Given the description of an element on the screen output the (x, y) to click on. 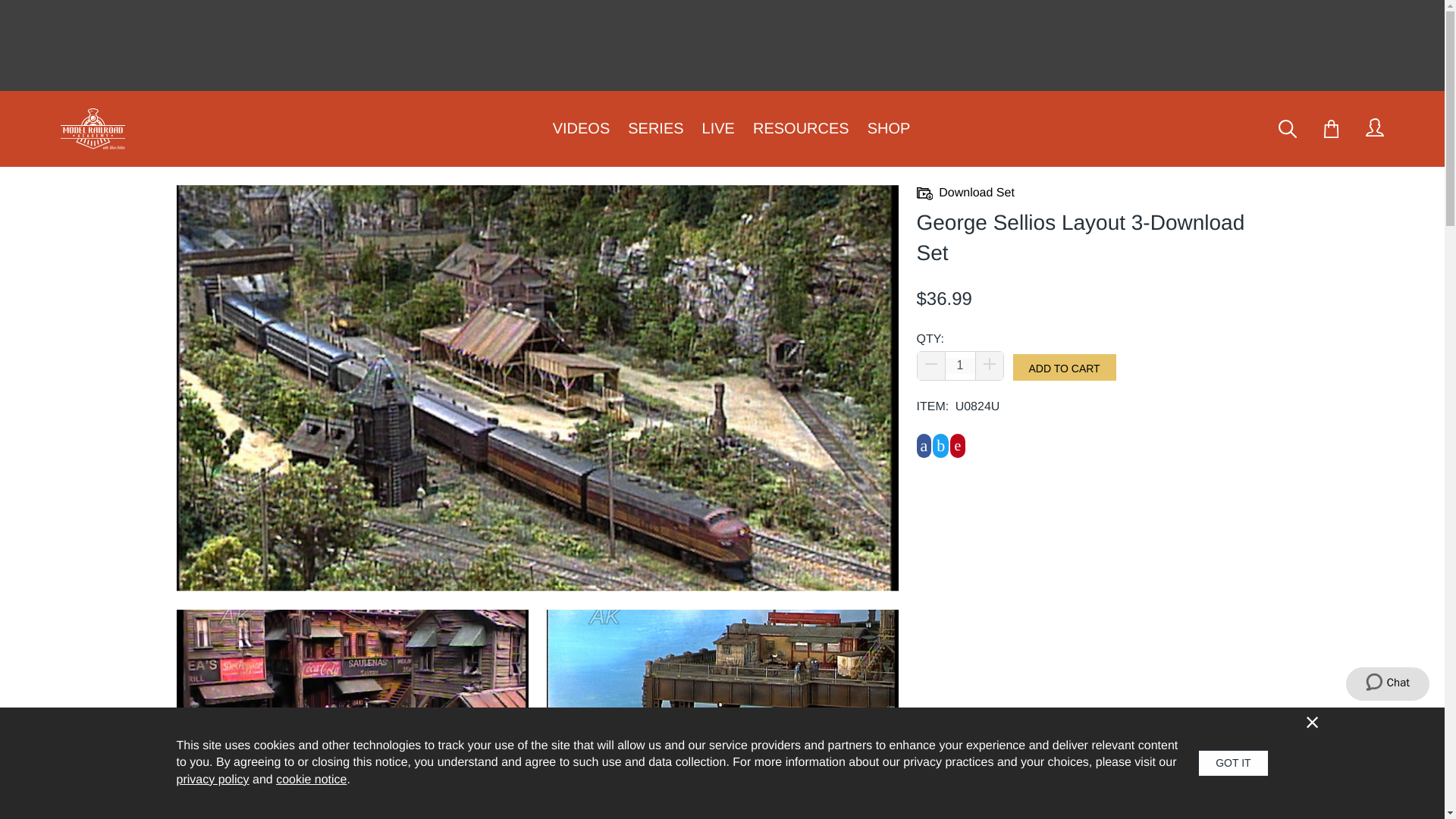
Home (93, 128)
1 (959, 365)
ADD TO CART (1064, 366)
Model Railroad Academy Clickable Logo (97, 128)
RESOURCES (800, 128)
Quantity control increment button (989, 365)
Quantity control decrement button (930, 365)
QTY: (959, 365)
